Given the description of an element on the screen output the (x, y) to click on. 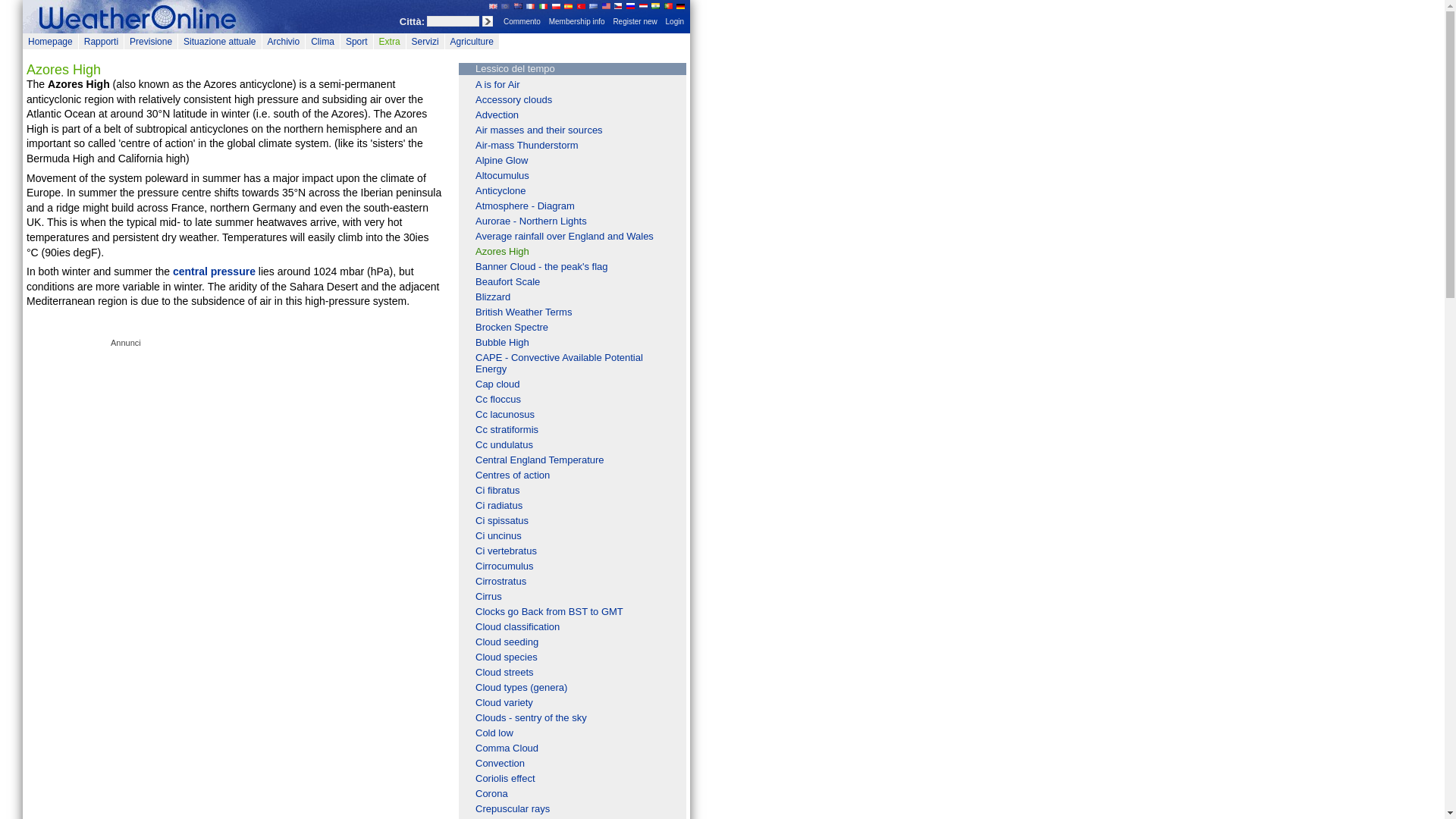
Previsione (150, 41)
Rapporti (100, 41)
Membership info (577, 21)
Register new (634, 21)
Italia previsione woitalia.it (49, 41)
weather forecast Europe WeatherOnline (504, 5)
weather forecast United Kingdom WeatherOnline (493, 5)
prognoza pogody Polska WeatherOnline (555, 5)
Commento (521, 21)
Wettervorhersage Deutschland WeatherOnline (680, 5)
weather forecast New Zealand WeatherOnline (517, 5)
weather forecast USA WeatherOnline (606, 5)
previsione Italia woitalia (542, 5)
Situazione attuale (219, 41)
Weersverwachting Nederland WeatherOnline (643, 5)
